Given the description of an element on the screen output the (x, y) to click on. 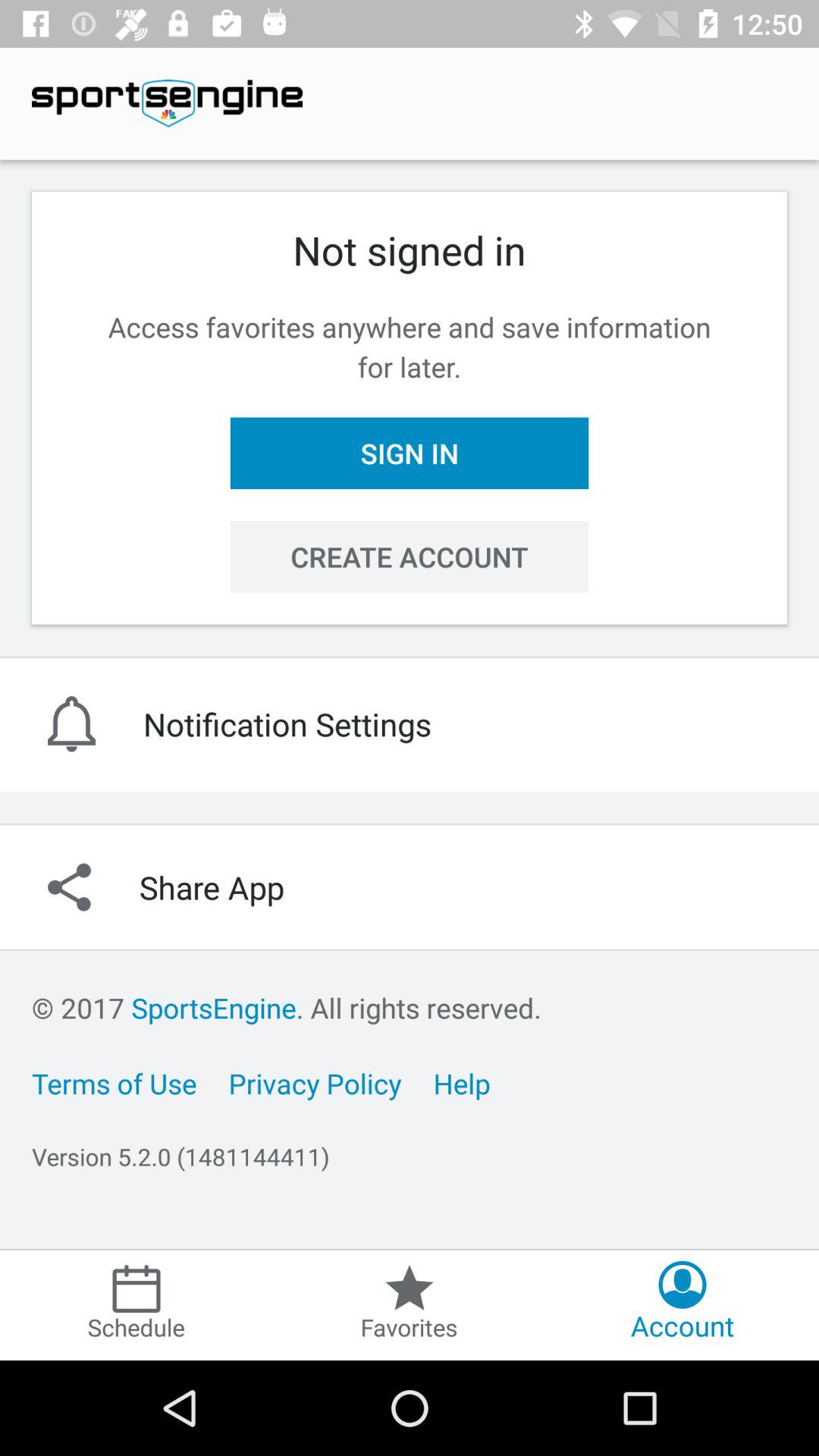
swipe until sign in (409, 453)
